Given the description of an element on the screen output the (x, y) to click on. 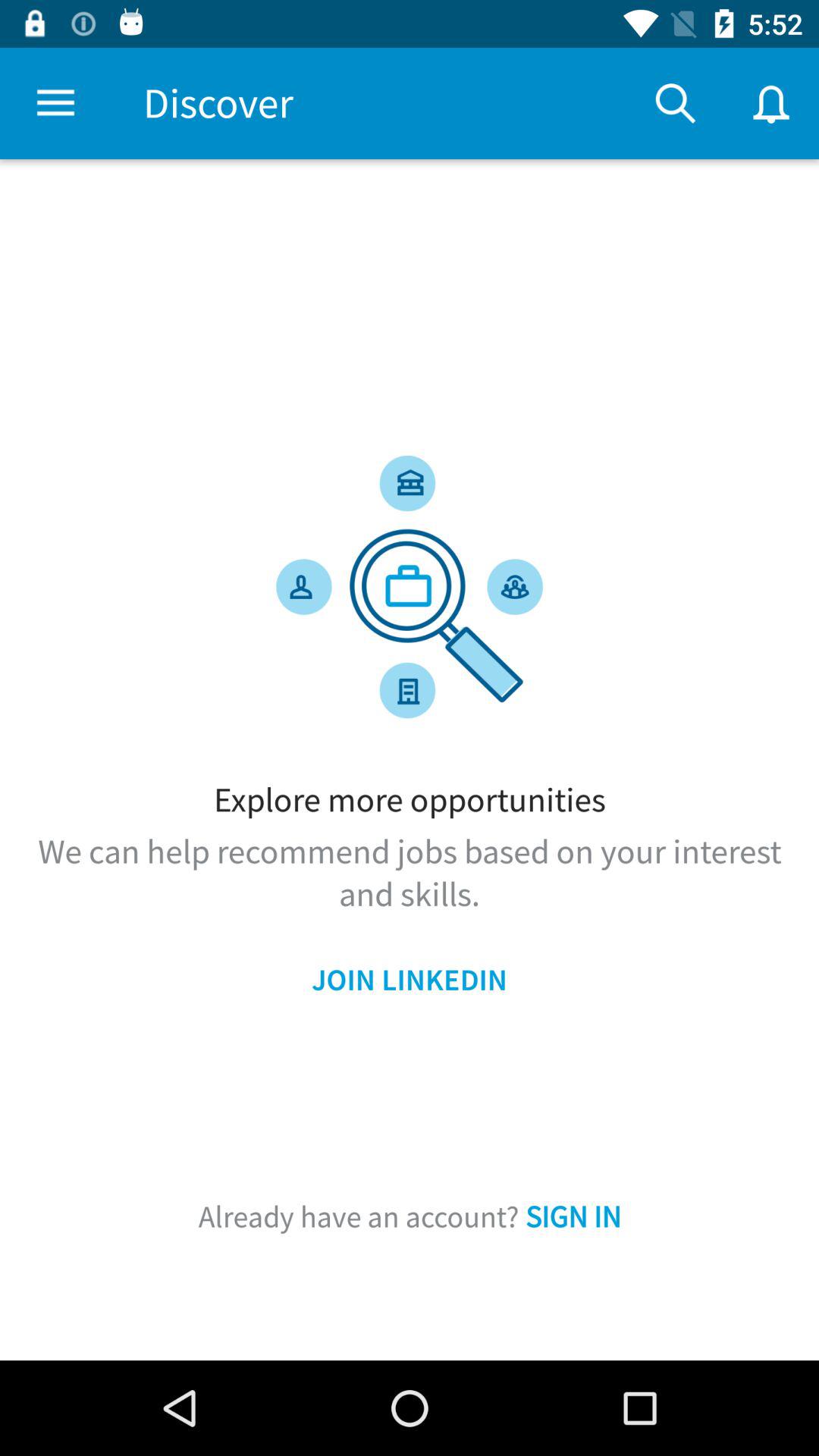
select item next to the discover (55, 103)
